Given the description of an element on the screen output the (x, y) to click on. 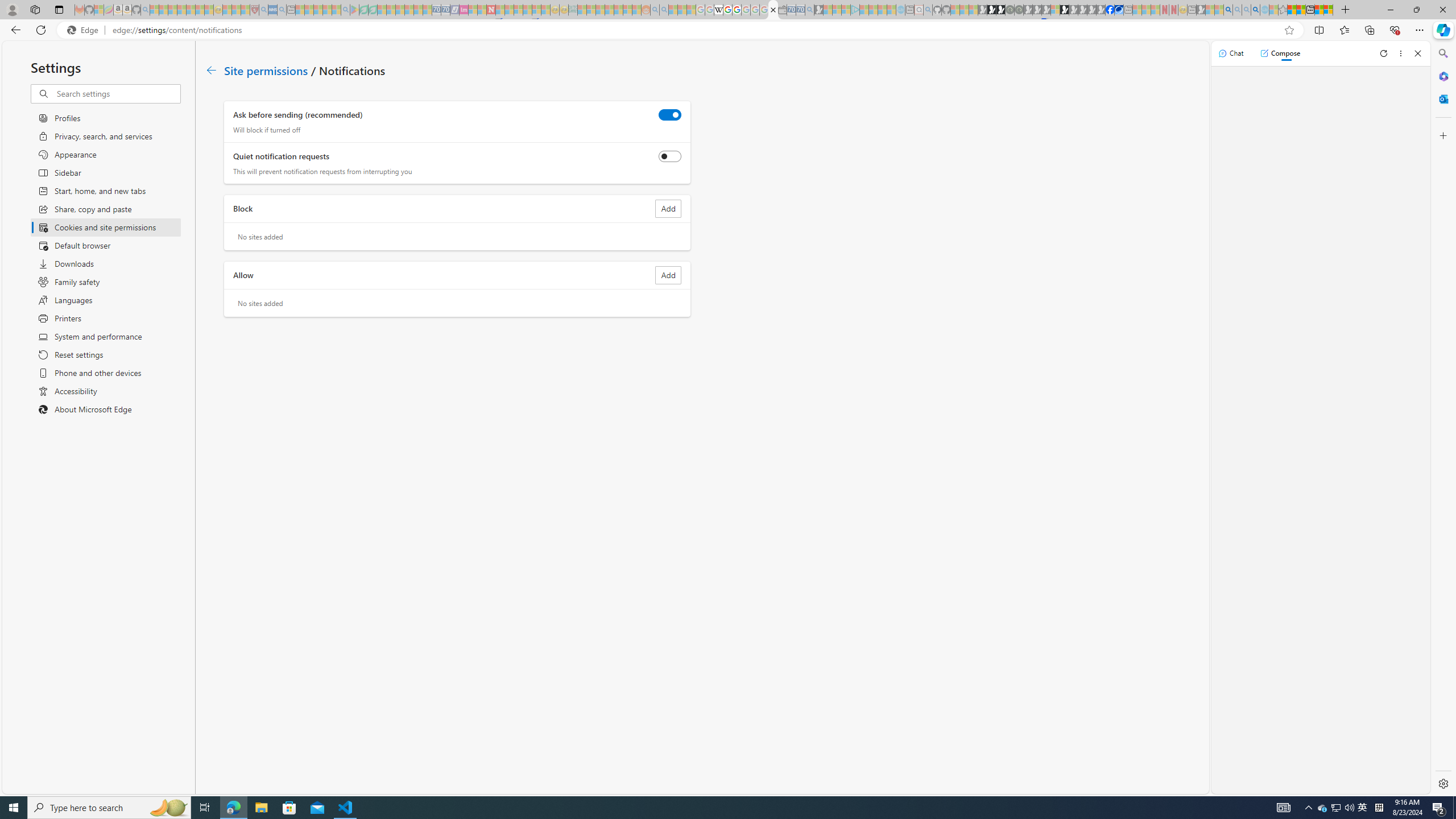
More options (1401, 53)
Address and search bar (695, 29)
Home | Sky Blue Bikes - Sky Blue Bikes - Sleeping (900, 9)
Close Customize pane (1442, 135)
New tab - Sleeping (1191, 9)
